Given the description of an element on the screen output the (x, y) to click on. 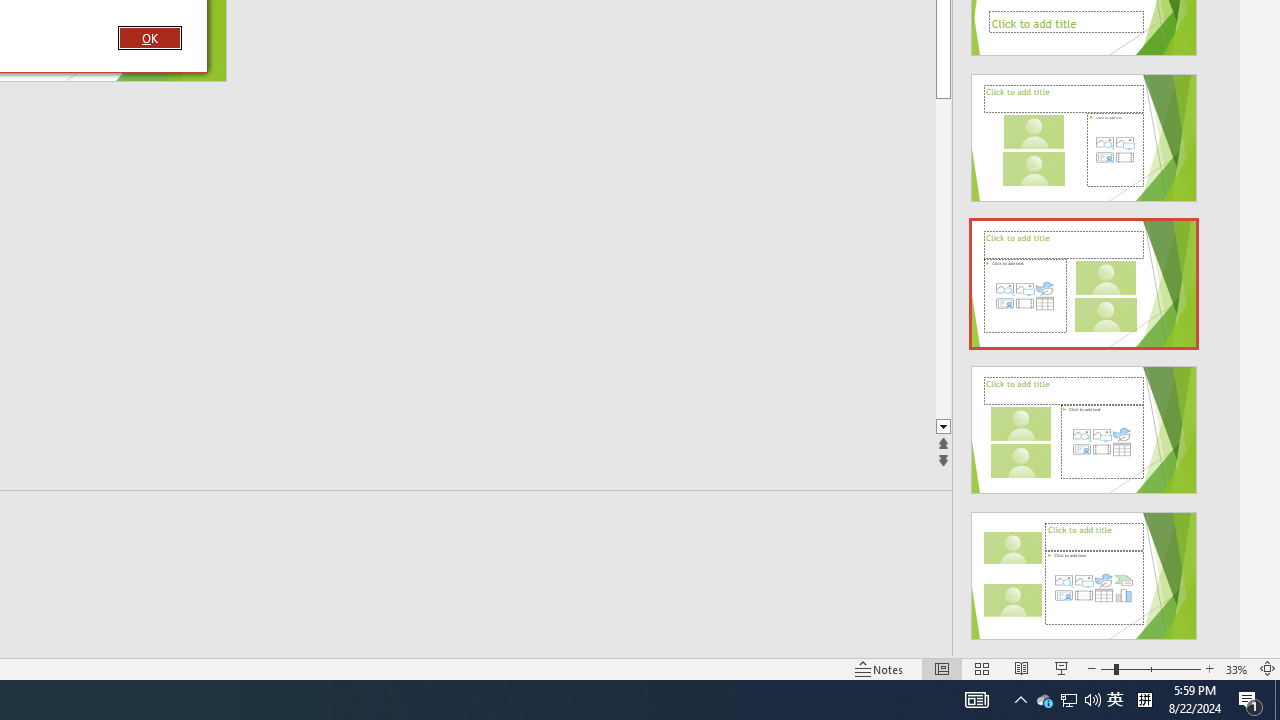
OK (149, 37)
IME Mode Icon - IME is disabled (1115, 699)
